Given the description of an element on the screen output the (x, y) to click on. 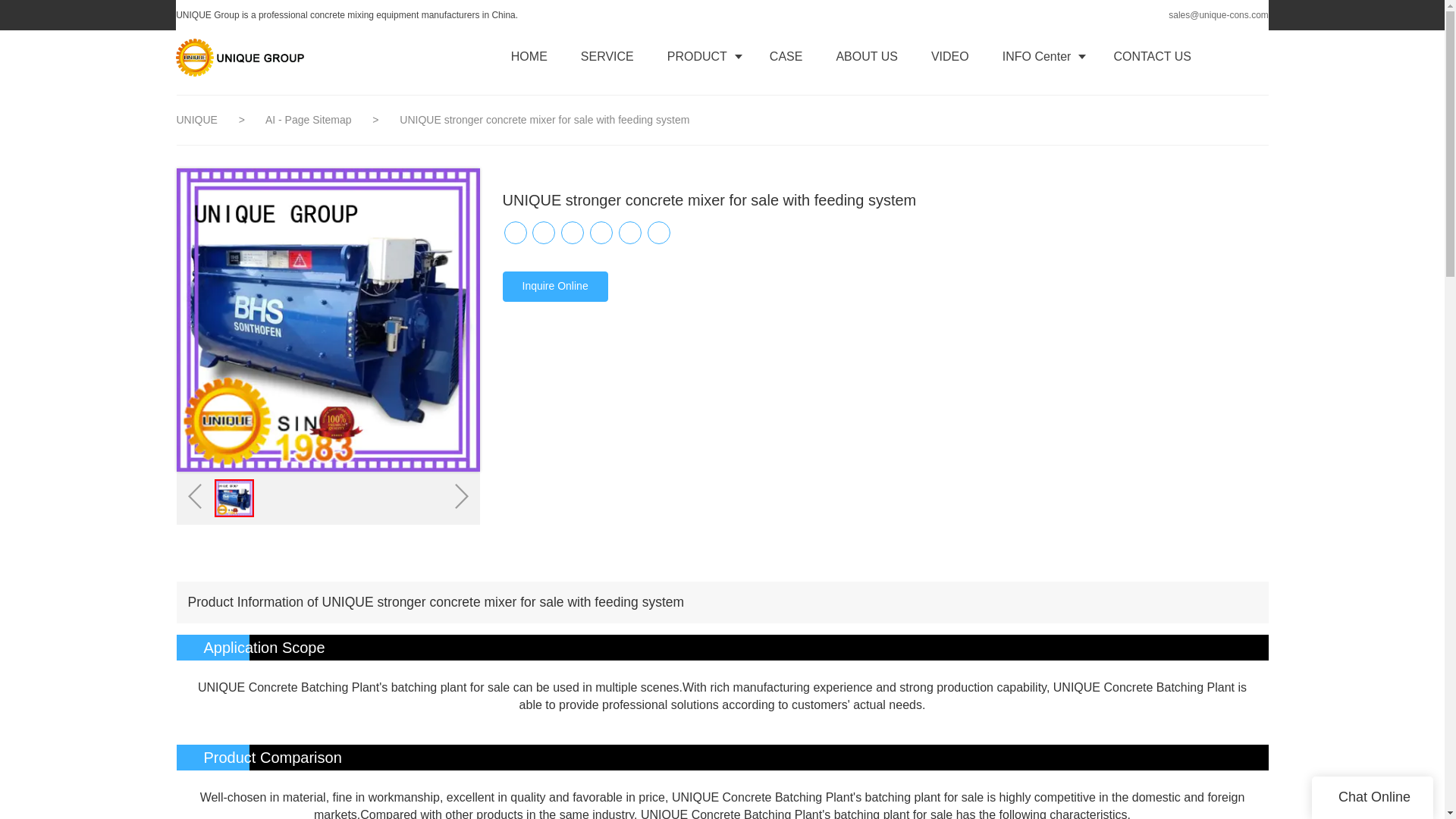
AI - Page Sitemap (309, 119)
PRODUCT (701, 56)
HOME (529, 56)
Inquire Online (554, 286)
SERVICE (607, 56)
CASE (785, 56)
VIDEO (949, 56)
UNIQUE (197, 119)
CONTACT US (1152, 56)
INFO Center (1041, 56)
